Given the description of an element on the screen output the (x, y) to click on. 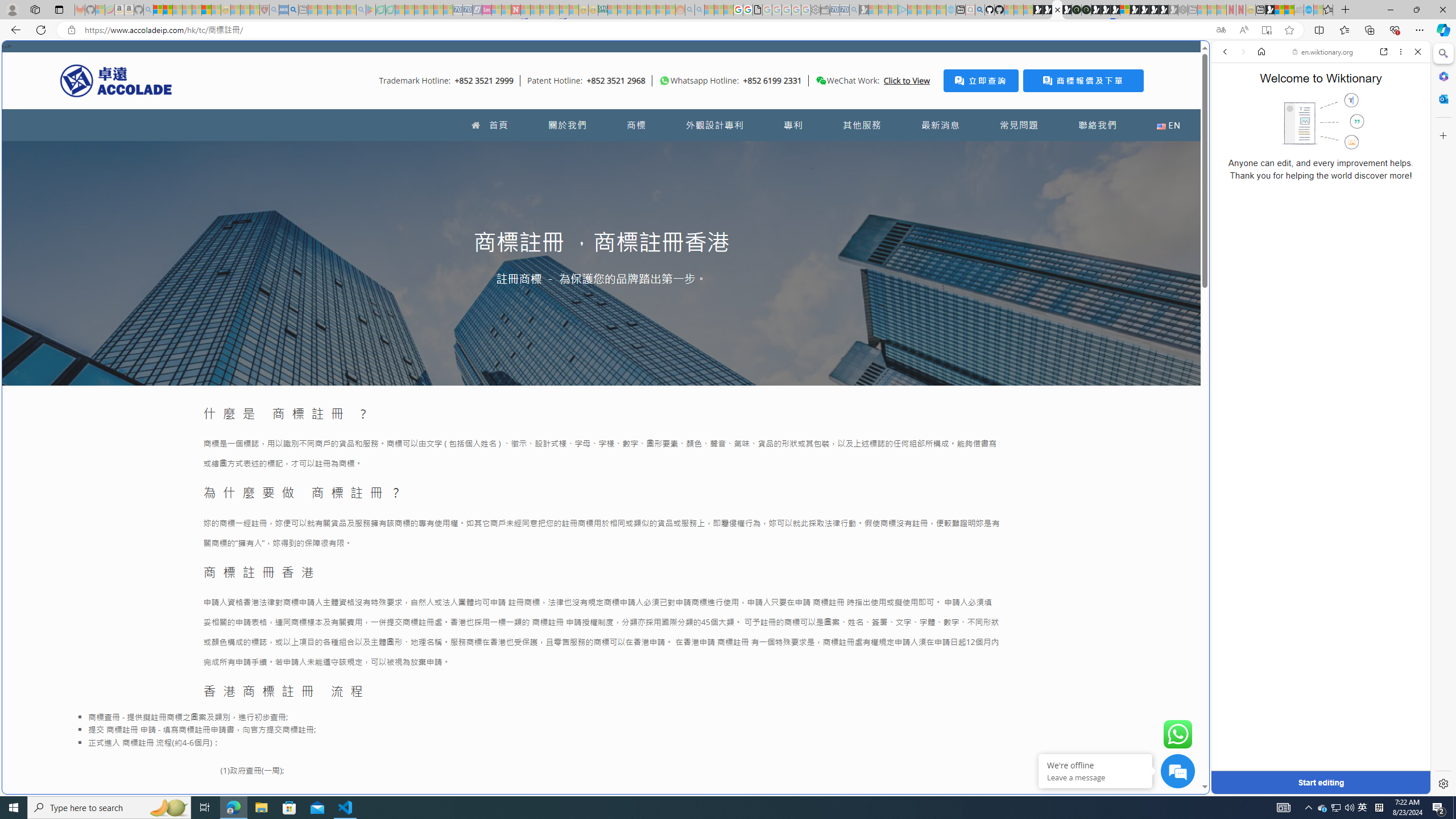
Bluey: Let's Play! - Apps on Google Play - Sleeping (370, 9)
Accolade IP HK Logo (116, 80)
Jobs - lastminute.com Investor Portal - Sleeping (486, 9)
